Given the description of an element on the screen output the (x, y) to click on. 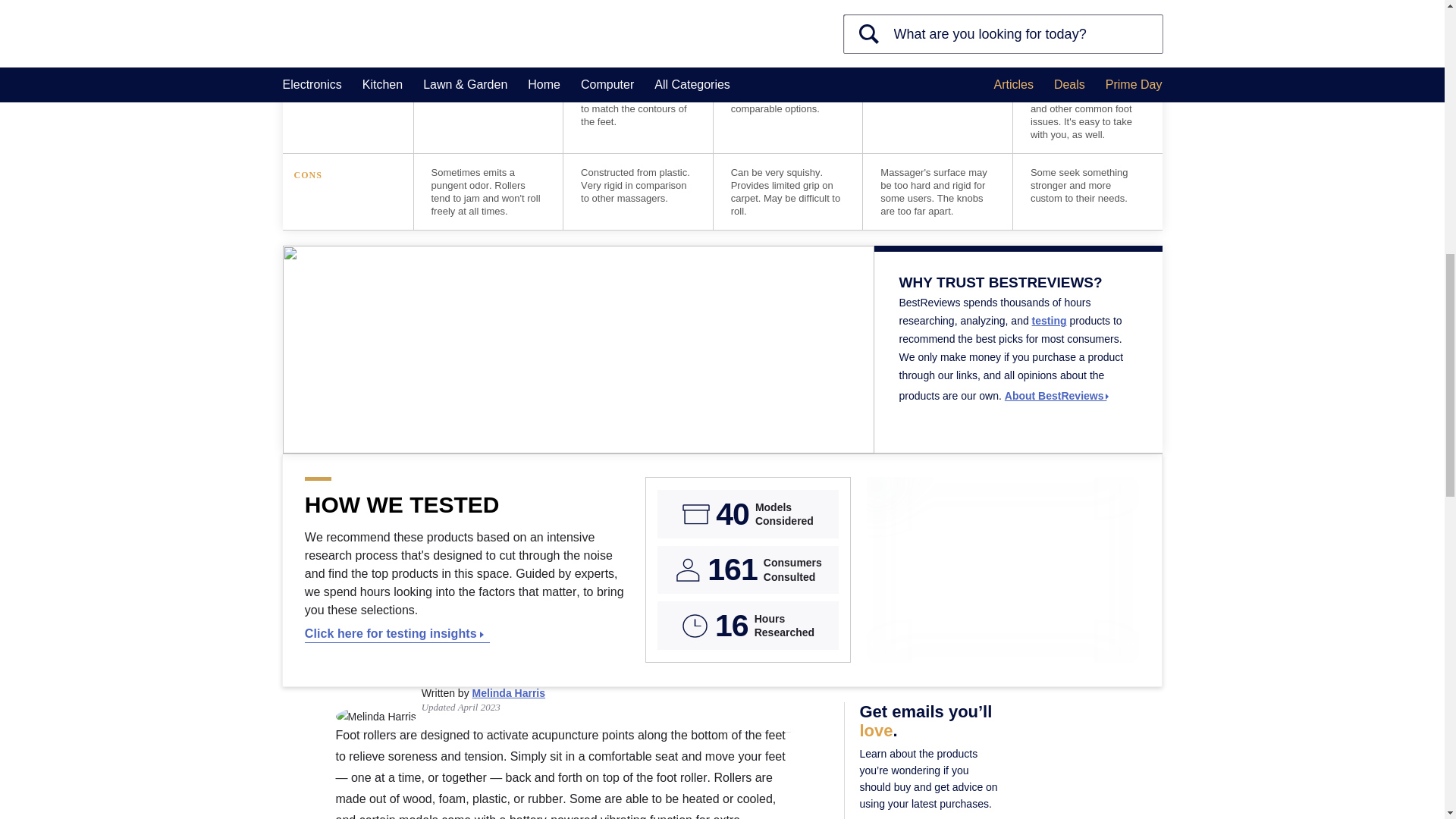
testing (1049, 320)
Melinda Harris (507, 693)
About BestReviews   (1056, 395)
